Given the description of an element on the screen output the (x, y) to click on. 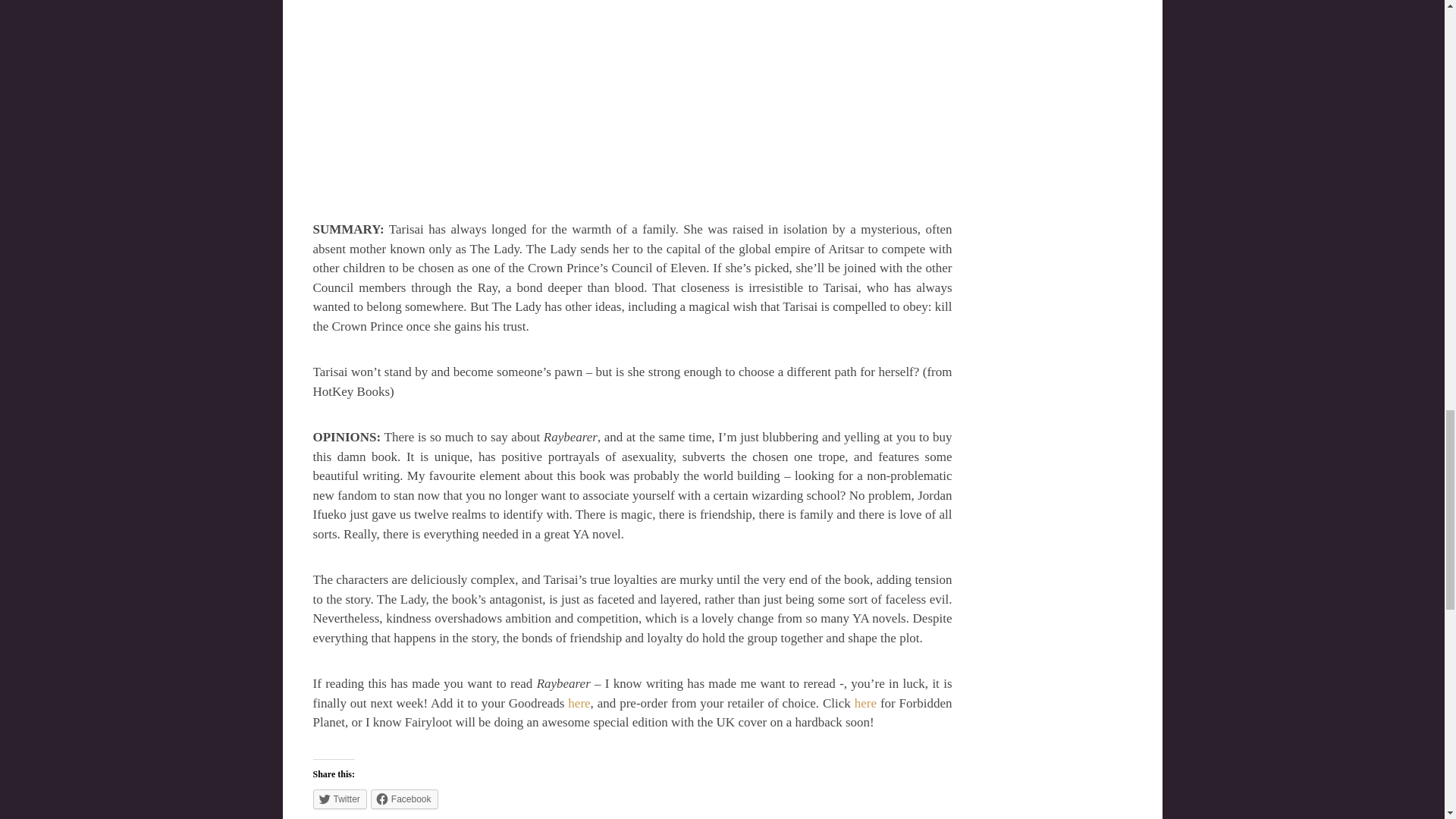
here (865, 703)
Click to share on Twitter (339, 799)
Twitter (339, 799)
Click to share on Facebook (404, 799)
here (578, 703)
Facebook (404, 799)
